Given the description of an element on the screen output the (x, y) to click on. 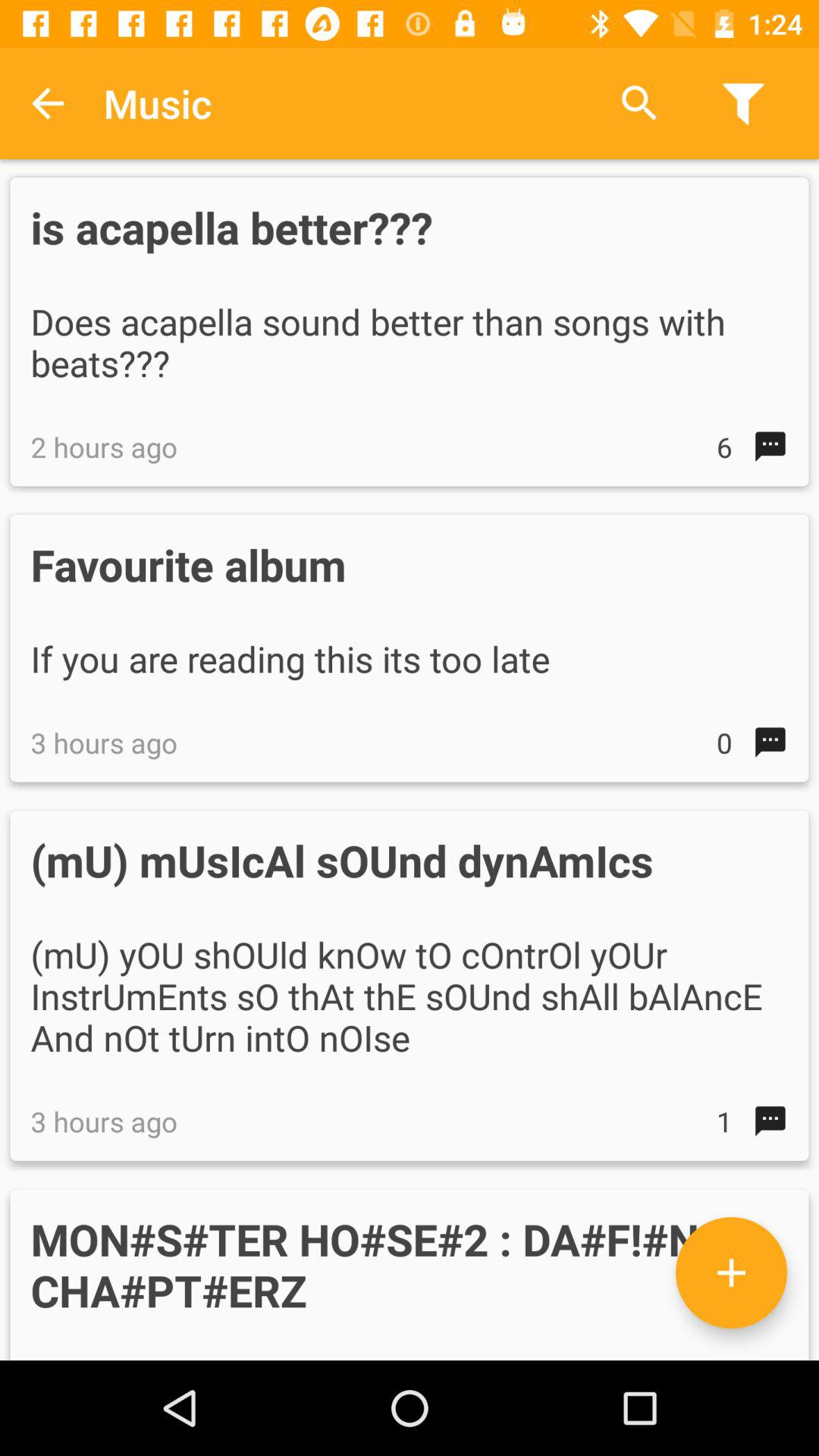
press the item to the right of the music item (639, 103)
